Given the description of an element on the screen output the (x, y) to click on. 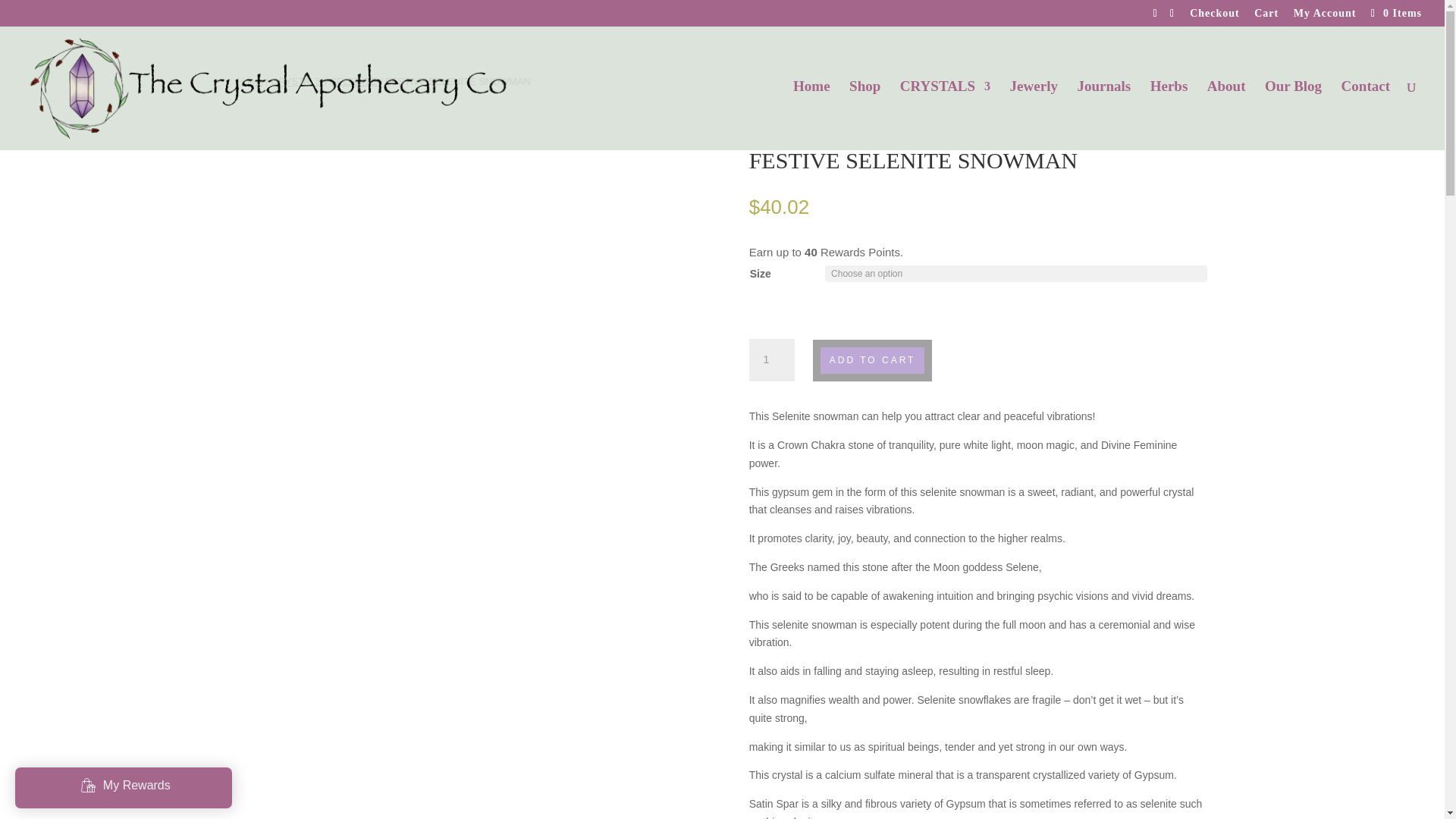
My Account (1325, 16)
CRYSTALS (944, 115)
1 (771, 360)
Checkout (1214, 16)
0 Items (1394, 12)
Cart (1265, 16)
